Given the description of an element on the screen output the (x, y) to click on. 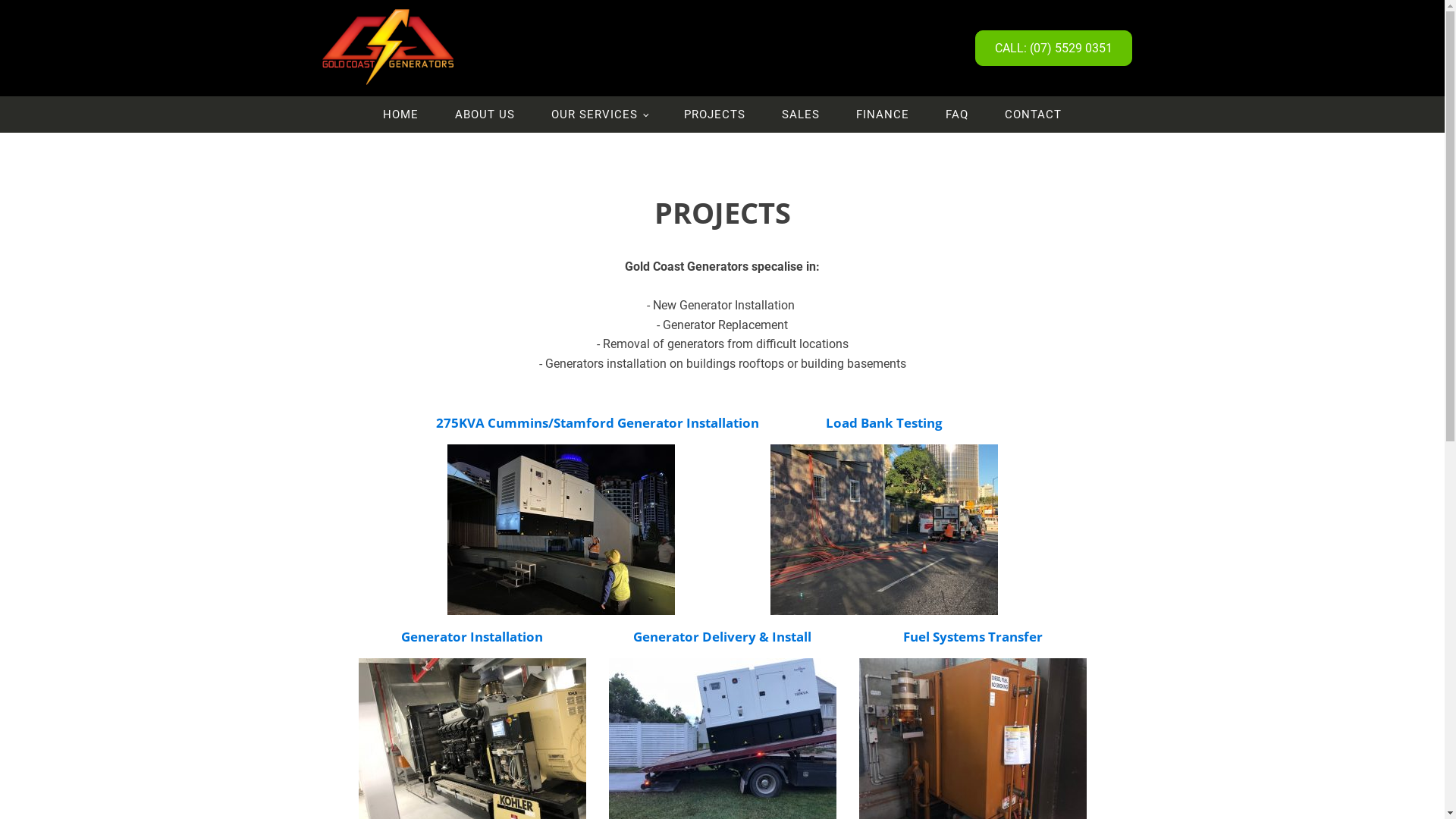
Generator Delivery & Install Element type: text (722, 636)
FAQ Element type: text (956, 114)
CALL: (07) 5529 0351 Element type: text (1053, 48)
FINANCE Element type: text (882, 114)
Load Bank Testing Element type: text (883, 422)
CONTACT Element type: text (1032, 114)
OUR SERVICES Element type: text (599, 114)
Fuel Systems Transfer Element type: text (971, 636)
Generator Installation Element type: text (471, 636)
PROJECTS Element type: text (714, 114)
275KVA Cummins/Stamford Generator Installation Element type: text (596, 422)
HOME Element type: text (400, 114)
ABOUT US Element type: text (484, 114)
SALES Element type: text (800, 114)
